Given the description of an element on the screen output the (x, y) to click on. 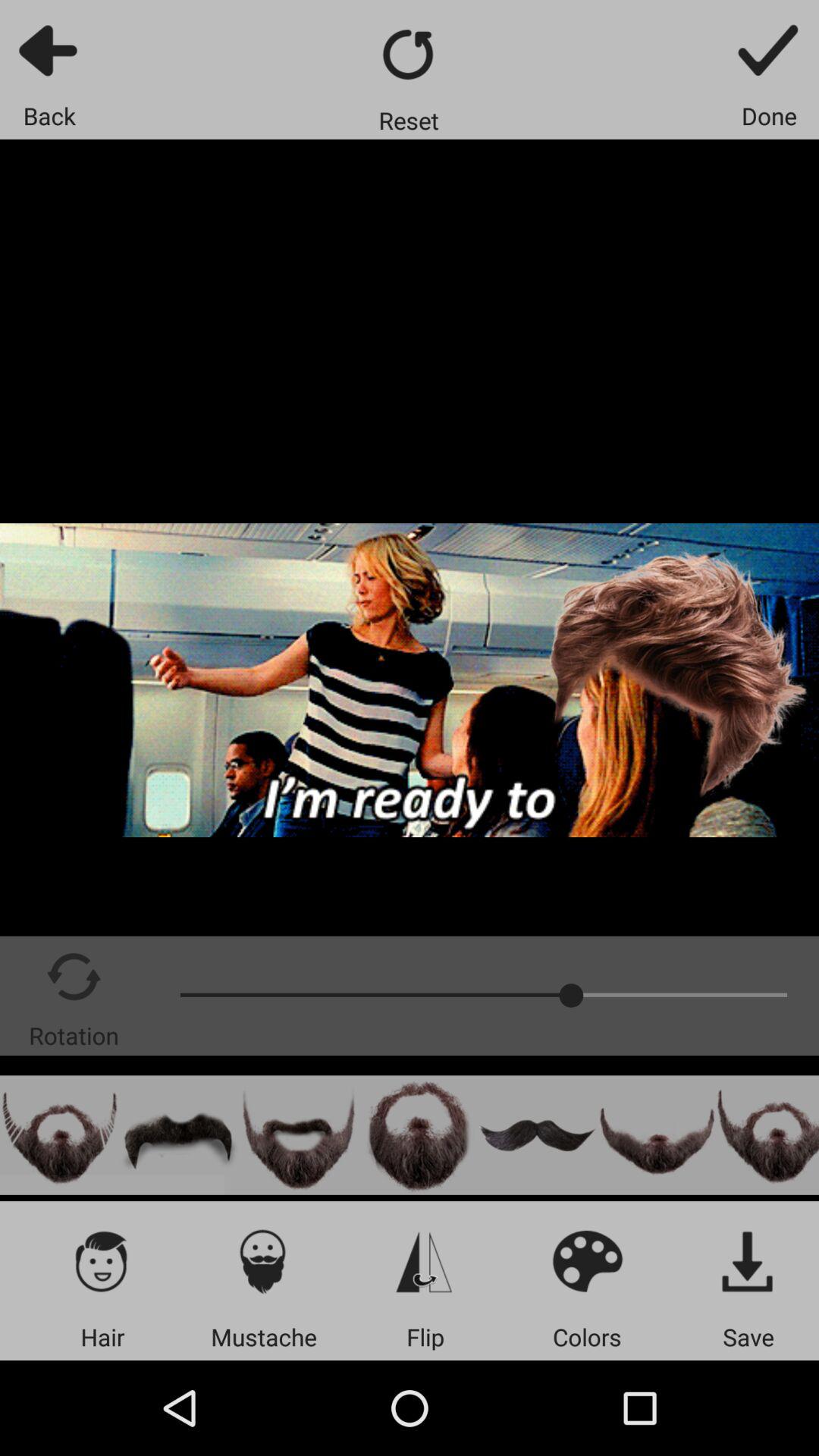
done/finish icon (769, 49)
